Given the description of an element on the screen output the (x, y) to click on. 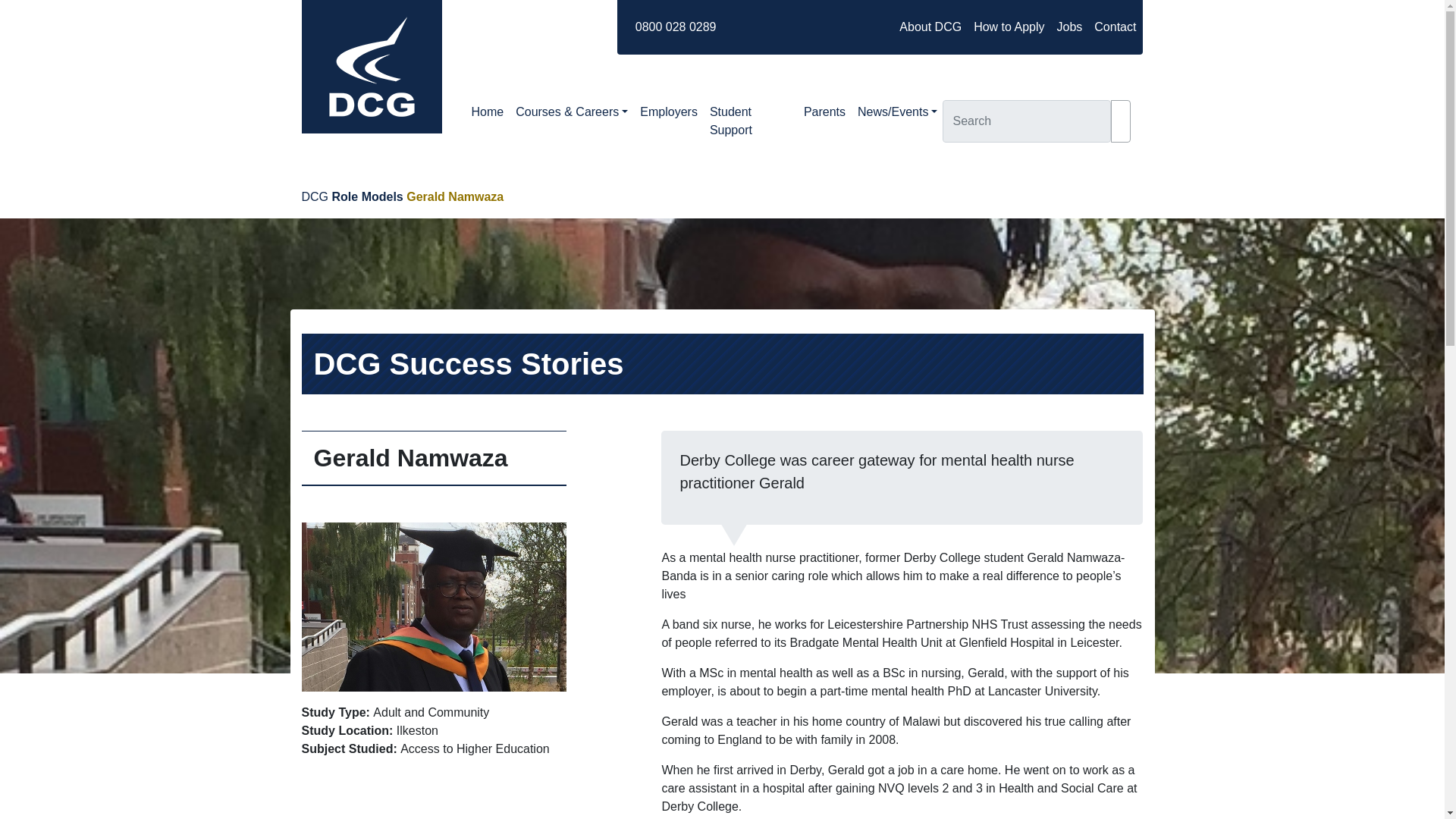
DCG (315, 196)
Jobs (1070, 26)
About DCG (929, 26)
Contact (1114, 26)
Parents (824, 112)
How to Apply (1008, 26)
Employers (668, 112)
Role Models (367, 196)
Home (488, 112)
Student Support (750, 121)
